Given the description of an element on the screen output the (x, y) to click on. 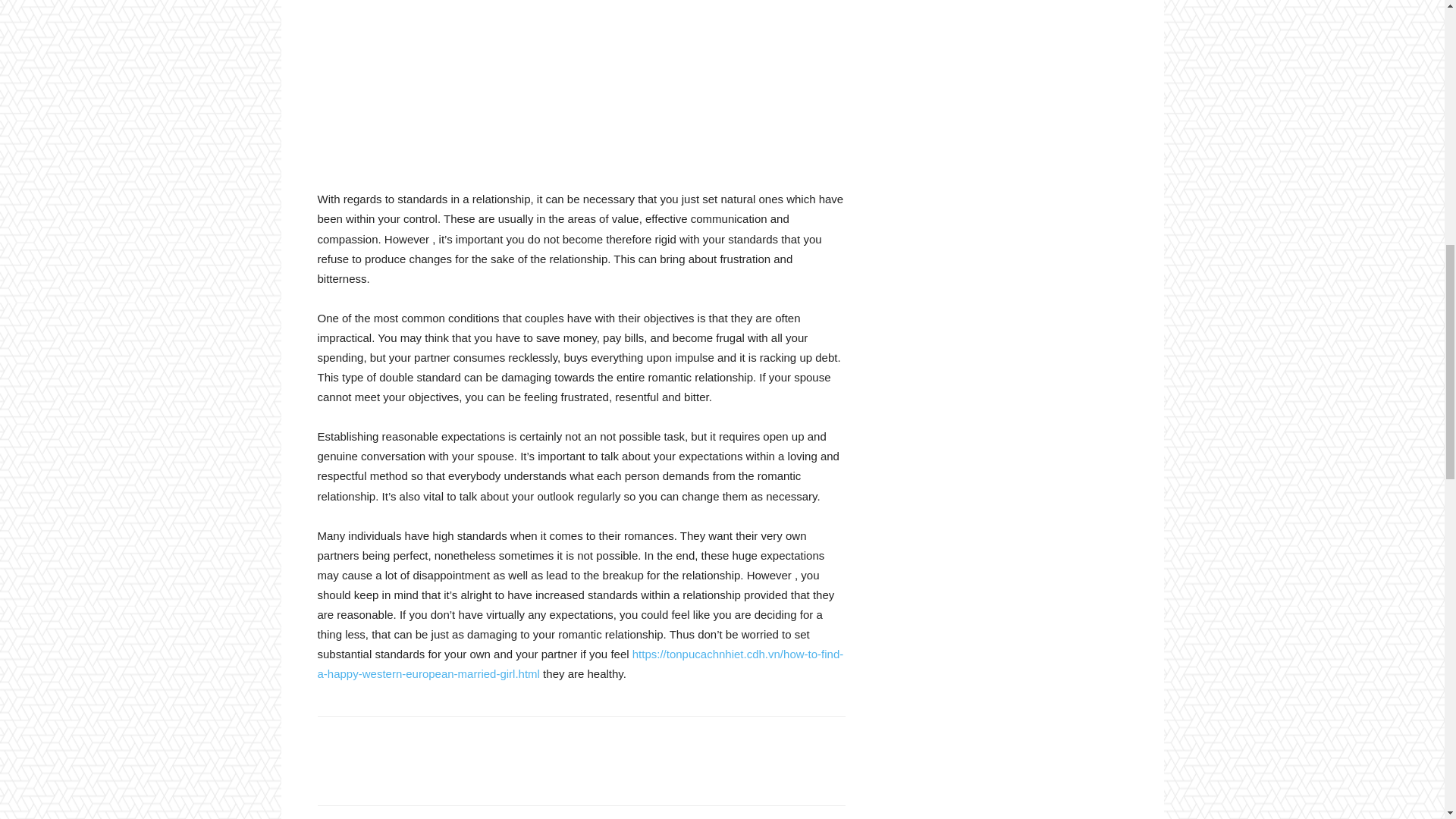
bottomFacebookLike (430, 740)
